Given the description of an element on the screen output the (x, y) to click on. 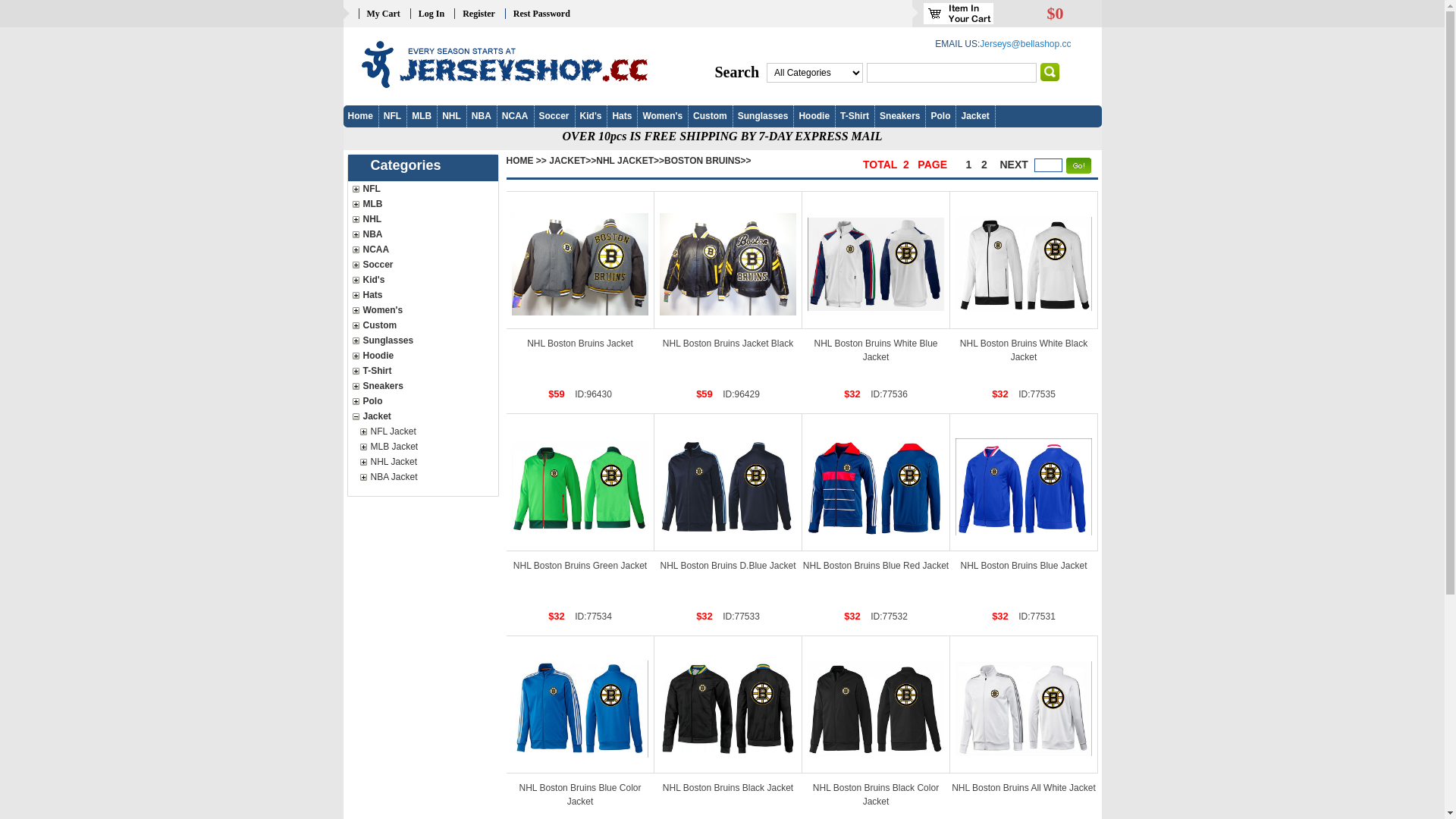
NHL Boston Bruins Blue Jacket Element type: hover (1023, 486)
Hoodie Element type: text (422, 355)
NHL Element type: text (451, 116)
BOSTON BRUINS>> Element type: text (707, 160)
MLB Element type: text (422, 203)
Jerseys@bellashop.cc Element type: text (1024, 43)
NHL Boston Bruins D.Blue Jacket Element type: text (728, 565)
NBA Jacket Element type: text (393, 476)
NHL Boston Bruins Jacket Element type: hover (580, 260)
Kid's Element type: text (422, 279)
NHL Boston Bruins D.Blue Jacket Element type: hover (727, 486)
NCAA Element type: text (375, 249)
NHL JACKET>> Element type: text (630, 160)
NHL Boston Bruins Jacket Black Element type: hover (727, 260)
Women's Element type: text (422, 309)
T-Shirt Element type: text (376, 370)
Sneakers Element type: text (899, 116)
Kid's Element type: text (590, 116)
NCAA Element type: text (422, 249)
 NEXT  Element type: text (1014, 164)
Hoodie Element type: text (813, 116)
NHL Jacket Element type: text (425, 461)
NBA Jacket Element type: text (425, 476)
Custom Element type: text (422, 324)
NHL Boston Bruins White Black Jacket Element type: hover (1023, 260)
NHL Boston Bruins Blue Jacket Element type: text (1023, 565)
NHL Boston Bruins Green Jacket Element type: text (579, 565)
NHL Boston Bruins White Black Jacket Element type: text (1023, 350)
T-Shirt Element type: text (422, 370)
NFL Element type: text (422, 188)
Cheap Jerseys from China Element type: hover (497, 64)
Polo Element type: text (939, 116)
NFL Element type: text (370, 188)
NFL Element type: text (391, 116)
NHL Boston Bruins Black Color Jacket Element type: hover (874, 708)
NHL Boston Bruins Blue Color Jacket Element type: hover (580, 704)
NBA Element type: text (372, 234)
Sunglasses Element type: text (763, 116)
NFL Jacket Element type: text (425, 431)
MLB Element type: text (421, 116)
Jacket Element type: text (422, 415)
Hats Element type: text (621, 116)
MLB Jacket Element type: text (425, 446)
NHL Boston Bruins All White Jacket Element type: text (1023, 787)
NHL Boston Bruins Jacket Element type: hover (579, 264)
NCAA Element type: text (515, 116)
NHL Element type: text (422, 218)
MLB Jacket Element type: text (393, 446)
NHL Boston Bruins Jacket Element type: text (580, 343)
NHL Boston Bruins Blue Red Jacket Element type: hover (876, 482)
Hoodie Element type: text (377, 355)
NBA Element type: text (422, 233)
NHL Boston Bruins Black Color Jacket Element type: text (875, 794)
Hats Element type: text (422, 294)
NHL Boston Bruins White Blue Jacket Element type: text (876, 350)
NHL Boston Bruins White Blue Jacket Element type: hover (874, 263)
NHL Boston Bruins D.Blue Jacket Element type: hover (727, 482)
NHL Boston Bruins All White Jacket Element type: hover (1023, 708)
NHL Boston Bruins Blue Color Jacket Element type: text (580, 794)
Sneakers Element type: text (422, 385)
NHL Boston Bruins Blue Jacket Element type: hover (1023, 482)
Soccer Element type: text (422, 264)
NHL Boston Bruins Green Jacket Element type: hover (579, 486)
JACKET>> Element type: text (572, 160)
NHL Boston Bruins Black Jacket Element type: hover (727, 708)
1 Element type: text (969, 164)
NHL Boston Bruins Jacket Black Element type: hover (727, 264)
NHL Boston Bruins Black Jacket Element type: hover (727, 704)
Women's Element type: text (382, 309)
Polo Element type: text (372, 400)
NBA Element type: text (481, 116)
$0 Element type: text (1054, 15)
NHL Boston Bruins Green Jacket Element type: hover (580, 482)
NHL Element type: text (371, 218)
Register Element type: text (478, 13)
MLB Element type: text (372, 203)
NHL Boston Bruins White Blue Jacket Element type: hover (876, 260)
T-Shirt Element type: text (854, 116)
NHL Boston Bruins All White Jacket Element type: hover (1023, 704)
Soccer Element type: text (377, 264)
NHL Boston Bruins Blue Red Jacket Element type: hover (874, 486)
NHL Boston Bruins Jacket Black Element type: text (727, 343)
Soccer Element type: text (554, 116)
Women's Element type: text (662, 116)
My Cart Element type: text (383, 13)
NHL Boston Bruins Black Jacket Element type: text (727, 787)
NHL Jacket Element type: text (393, 461)
Custom Element type: text (379, 325)
NHL Boston Bruins Black Color Jacket Element type: hover (876, 704)
Sneakers Element type: text (382, 385)
Home Element type: text (360, 116)
Rest Password Element type: text (541, 13)
NFL Jacket Element type: text (392, 431)
Kid's Element type: text (373, 279)
Hats Element type: text (372, 294)
NHL Boston Bruins White Black Jacket Element type: hover (1023, 263)
Jacket Element type: text (974, 116)
Go Element type: hover (1049, 71)
Sunglasses Element type: text (387, 340)
Log In Element type: text (431, 13)
Sunglasses Element type: text (422, 340)
NHL Boston Bruins Blue Color Jacket Element type: hover (579, 708)
NHL Boston Bruins Blue Red Jacket Element type: text (875, 565)
HOME >> Element type: text (526, 160)
Polo Element type: text (422, 400)
Jacket Element type: text (376, 416)
Custom Element type: text (710, 116)
 2  Element type: text (984, 164)
